Given the description of an element on the screen output the (x, y) to click on. 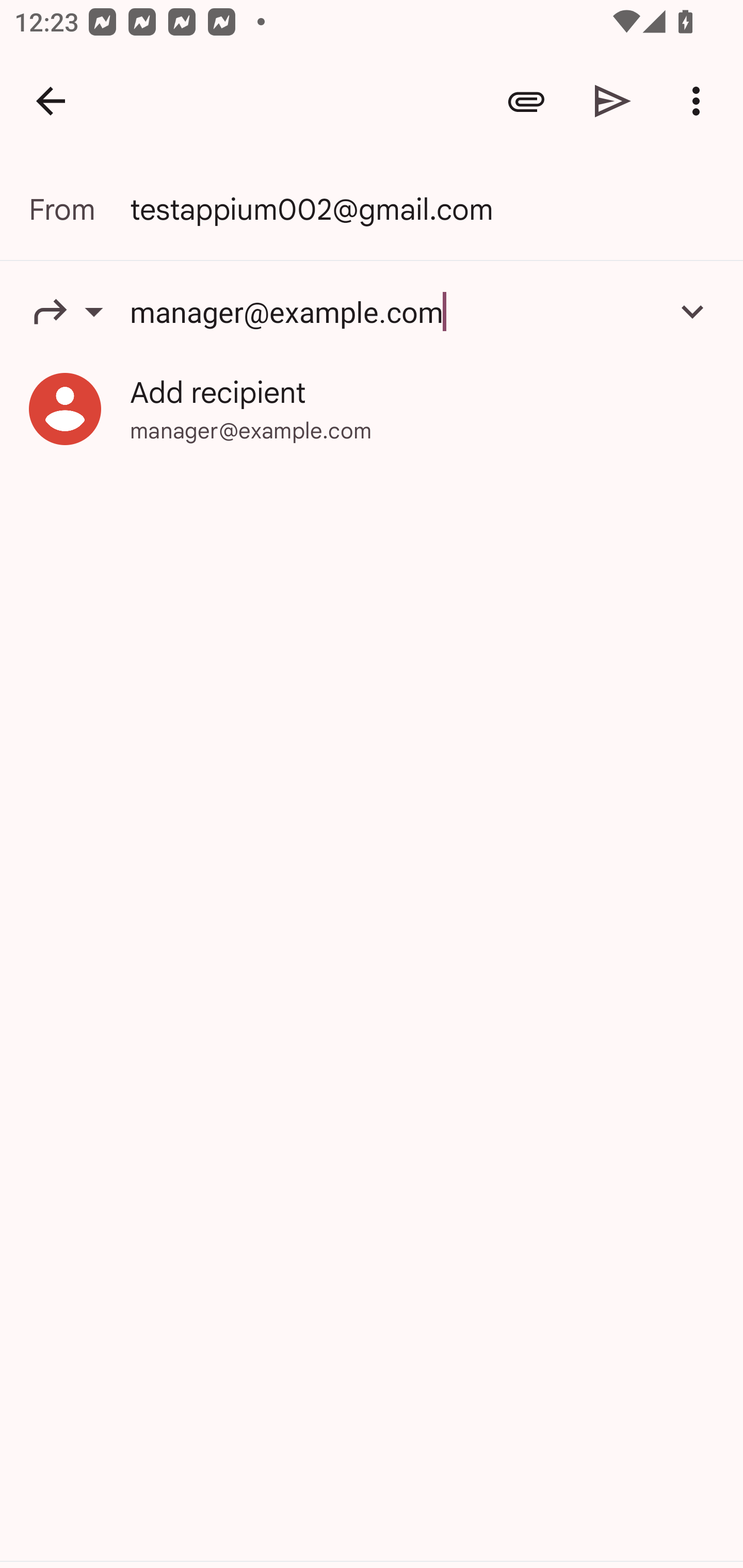
Navigate up (50, 101)
Attach file (525, 101)
Send (612, 101)
More options (699, 101)
From (79, 209)
Forward (79, 311)
Add Cc/Bcc (692, 311)
manager@example.com (393, 311)
Add recipient manager@example.com (371, 408)
